Given the description of an element on the screen output the (x, y) to click on. 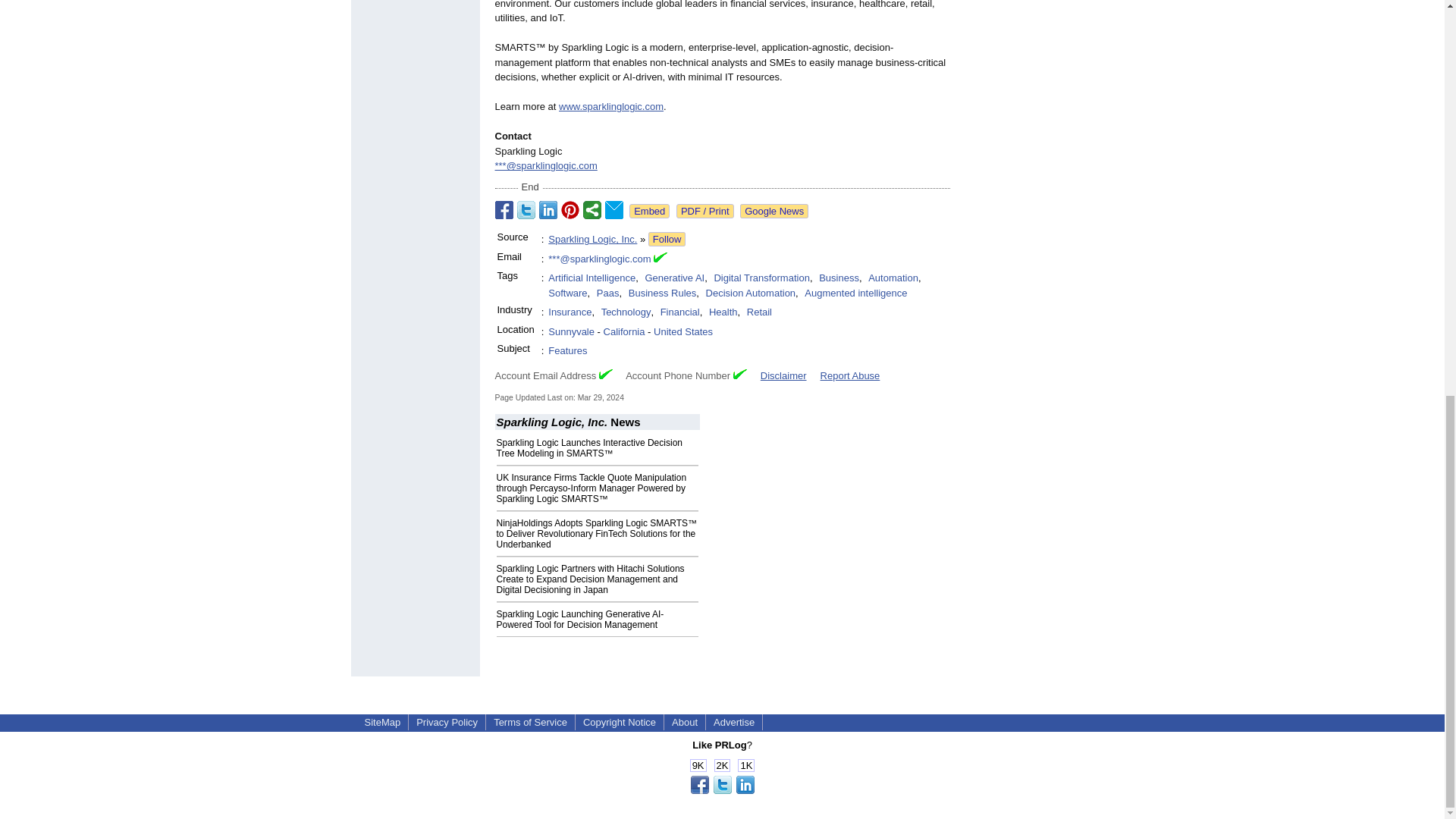
Share this page! (722, 790)
Share on Facebook (503, 209)
Verified (739, 374)
www.sparklinglogic.com (611, 106)
Email to a Friend (614, 209)
Embed (648, 210)
Embed this press release in your website! (648, 210)
Share on Twitter (525, 209)
Share on LinkedIn (547, 209)
Email Verified (659, 258)
See or print the PDF version! (705, 210)
Share on StumbleUpon, Digg, etc (590, 209)
Share on Pinterest (569, 209)
Verified (605, 374)
